Given the description of an element on the screen output the (x, y) to click on. 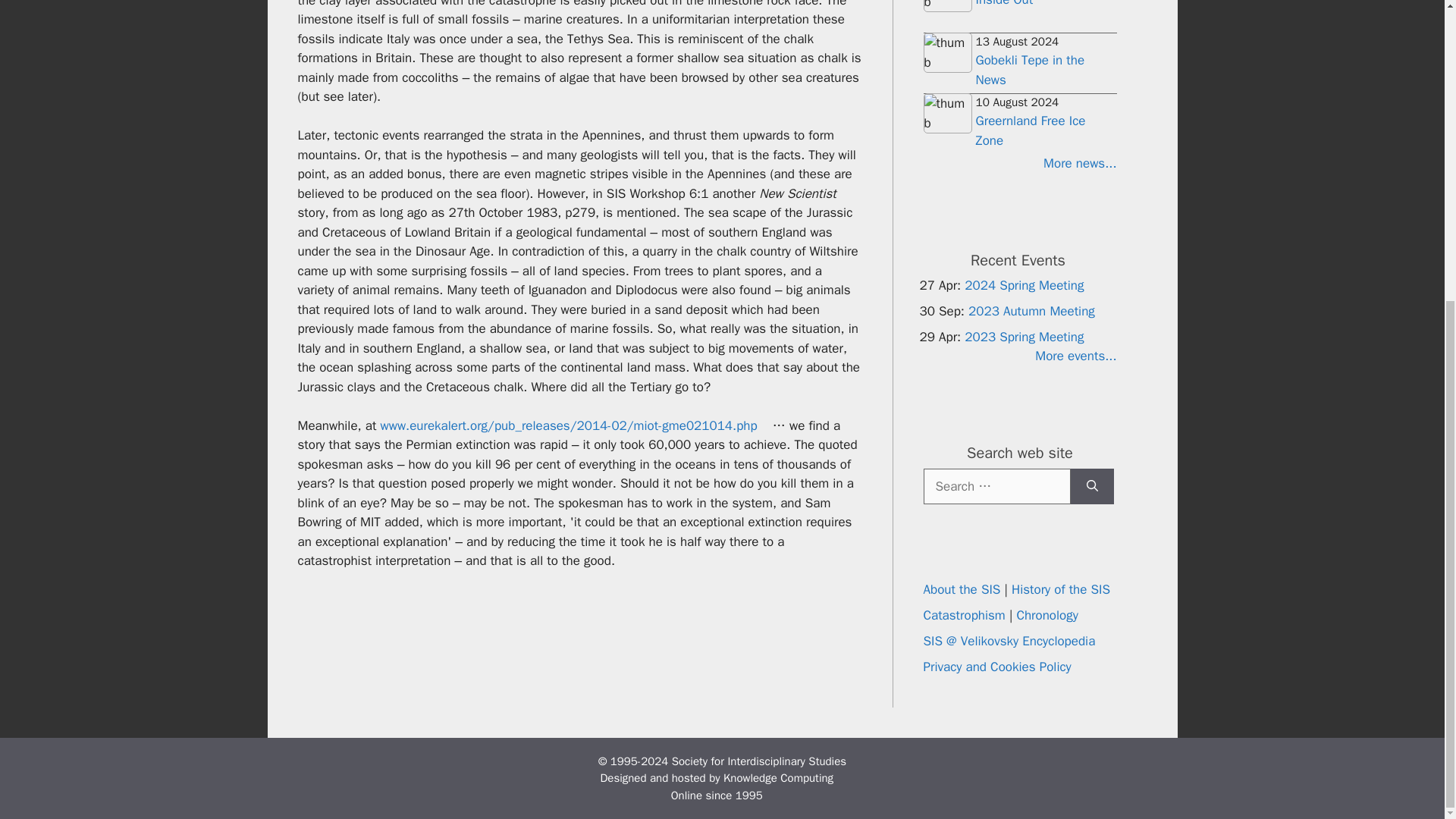
Inside Out (1003, 3)
Search for: (996, 486)
More news... (1019, 163)
Gobekli Tepe in the News (1029, 69)
Greernland Free Ice Zone (1029, 130)
